Given the description of an element on the screen output the (x, y) to click on. 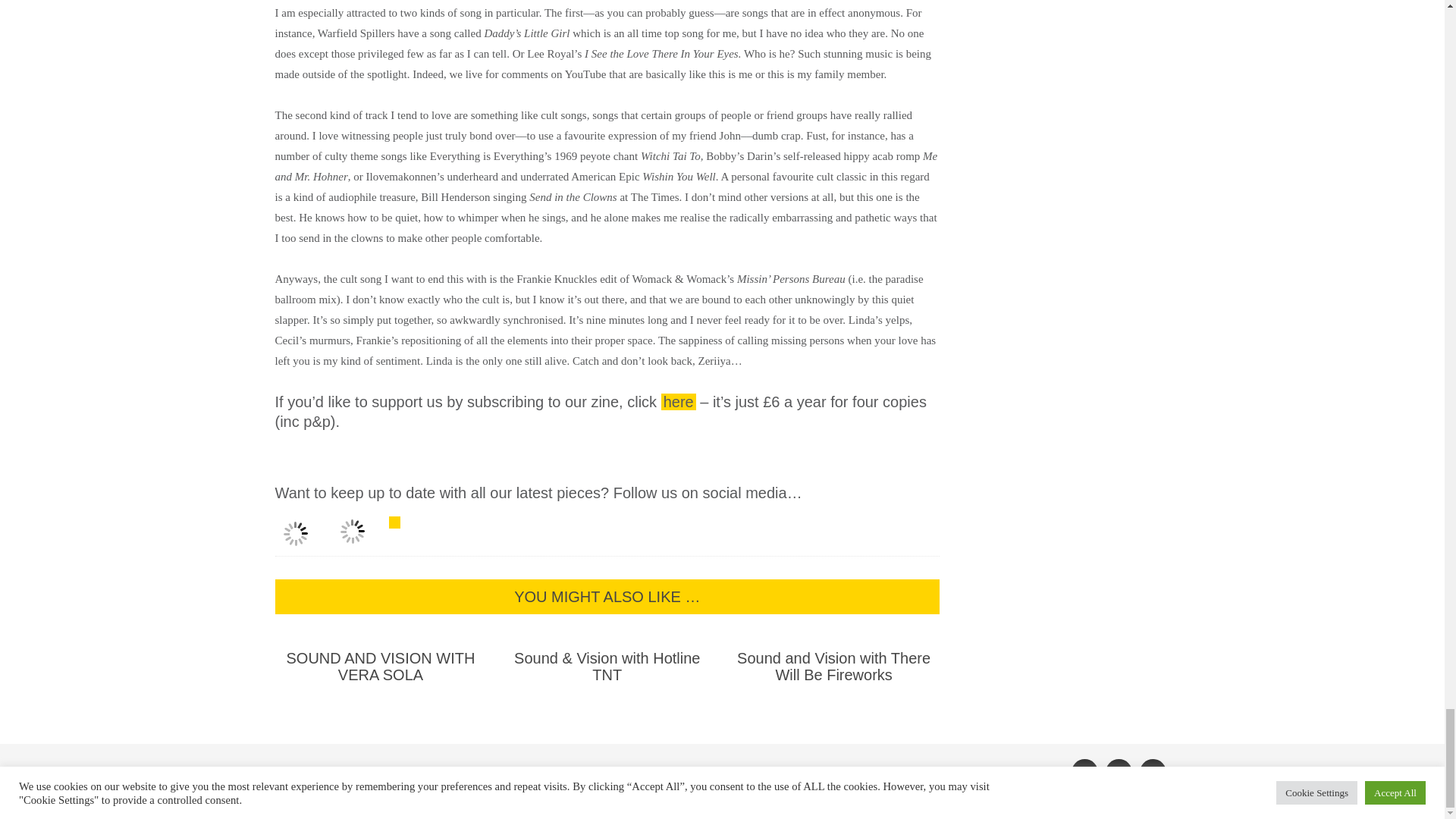
here (678, 401)
SOUND AND VISION WITH VERA SOLA (381, 666)
